Given the description of an element on the screen output the (x, y) to click on. 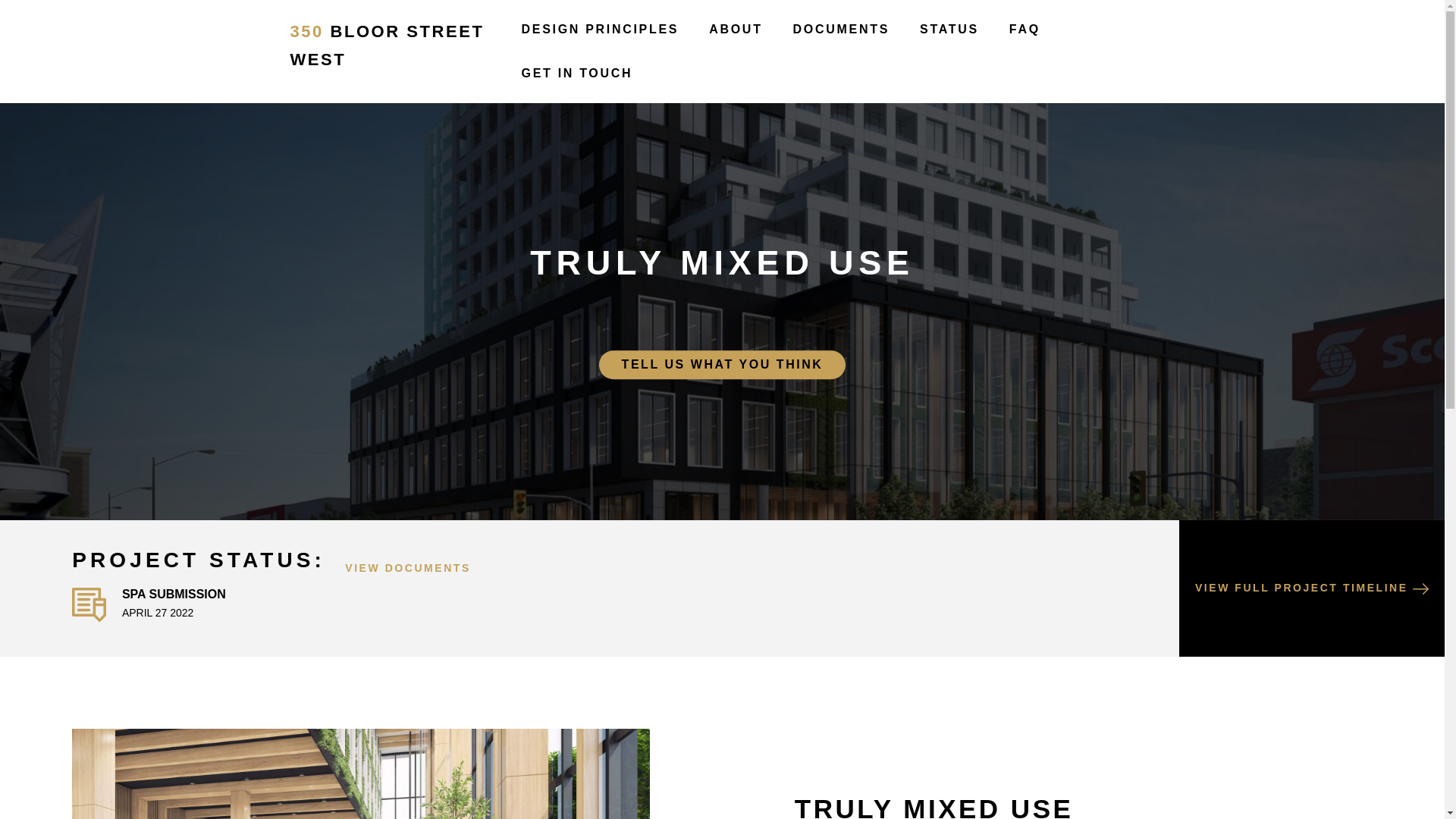
GET IN TOUCH Element type: text (577, 73)
VIEW DOCUMENTS Element type: text (407, 563)
DOCUMENTS Element type: text (841, 29)
350 BLOOR STREET WEST Element type: text (397, 45)
FAQ Element type: text (1024, 29)
STATUS Element type: text (949, 29)
DESIGN PRINCIPLES Element type: text (600, 29)
TELL US WHAT YOU THINK Element type: text (722, 364)
VIEW FULL PROJECT TIMELINE Element type: text (1311, 588)
ABOUT Element type: text (735, 29)
